Given the description of an element on the screen output the (x, y) to click on. 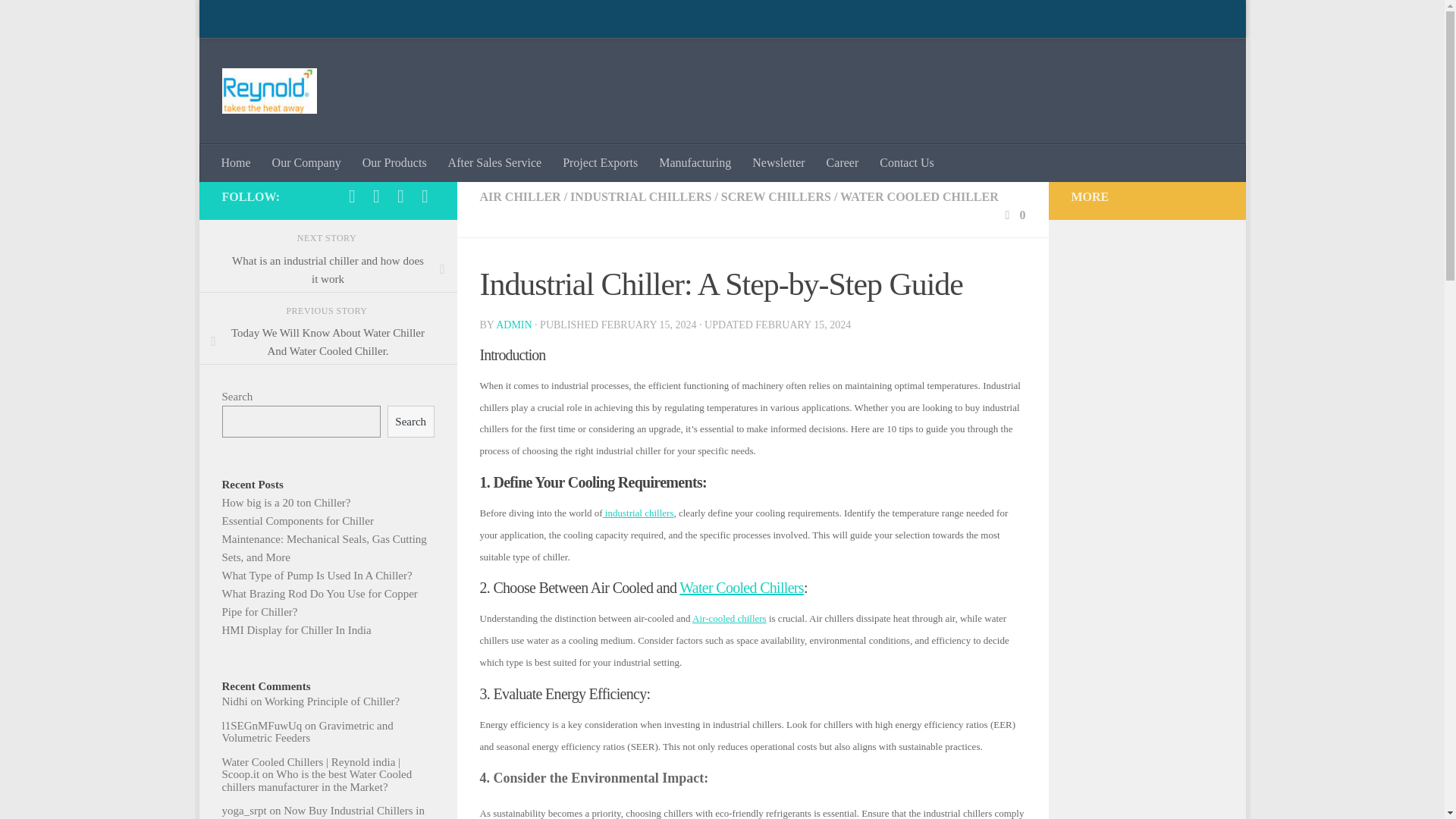
INDUSTRIAL CHILLERS (640, 196)
Our Products (395, 162)
Career (842, 162)
After Sales Service (495, 162)
Follow us on Linkedin-in (423, 196)
Manufacturing (694, 162)
AIR CHILLER (519, 196)
Contact Us (906, 162)
ADMIN (513, 324)
Follow us on Twitter (400, 196)
SCREW CHILLERS (775, 196)
Follow us on Youtube (351, 196)
Water Cooled Chillers (741, 587)
Home (236, 162)
Newsletter (778, 162)
